Given the description of an element on the screen output the (x, y) to click on. 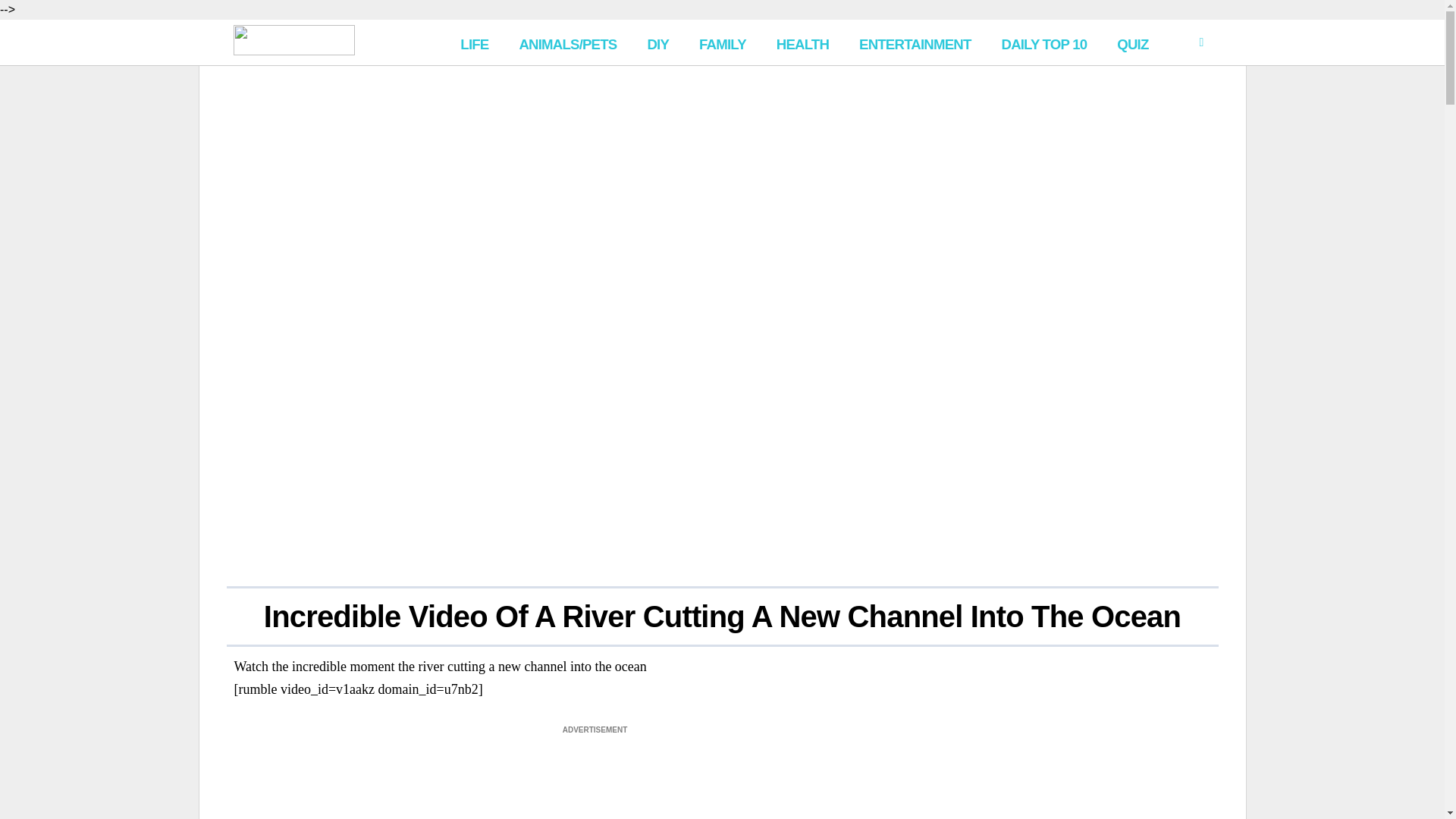
FAMILY (722, 42)
QUIZ (1132, 42)
LIFE (474, 42)
ENTERTAINMENT (914, 42)
DAILY TOP 10 (1043, 42)
HEALTH (801, 42)
